Given the description of an element on the screen output the (x, y) to click on. 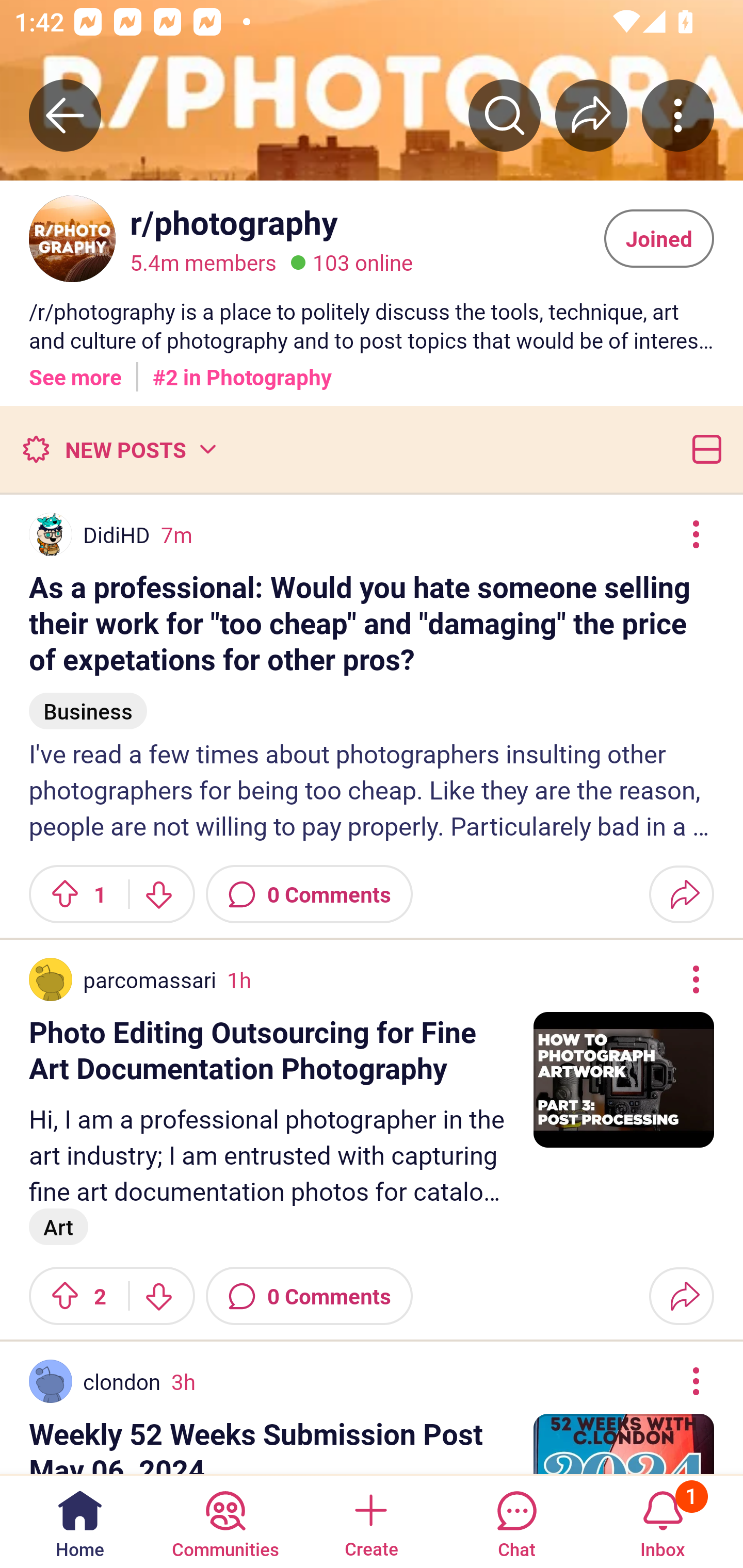
Back (64, 115)
Search r/﻿photography (504, 115)
Share r/﻿photography (591, 115)
More community actions (677, 115)
New posts NEW POSTS (118, 449)
Card (703, 449)
Business (87, 701)
Art (58, 1226)
Home (80, 1520)
Communities (225, 1520)
Create a post Create (370, 1520)
Chat (516, 1520)
Inbox, has 1 notification 1 Inbox (662, 1520)
